Given the description of an element on the screen output the (x, y) to click on. 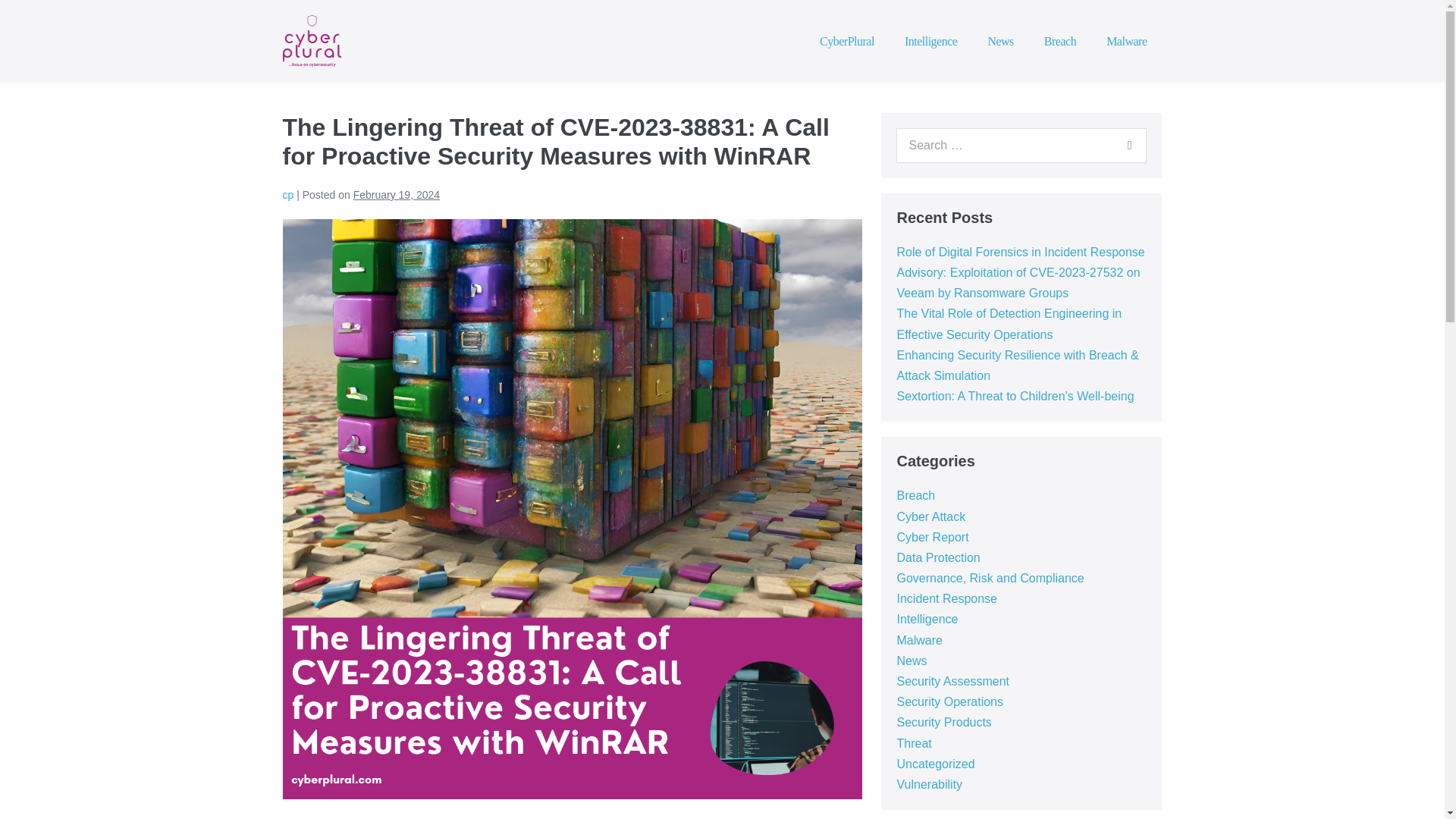
Security Assessment (952, 680)
Cyber Report (932, 536)
Breach (1059, 40)
CyberPlural Blog (311, 41)
Intelligence (927, 618)
View all posts by cp (288, 194)
Intelligence (930, 40)
CyberPlural (847, 40)
